Given the description of an element on the screen output the (x, y) to click on. 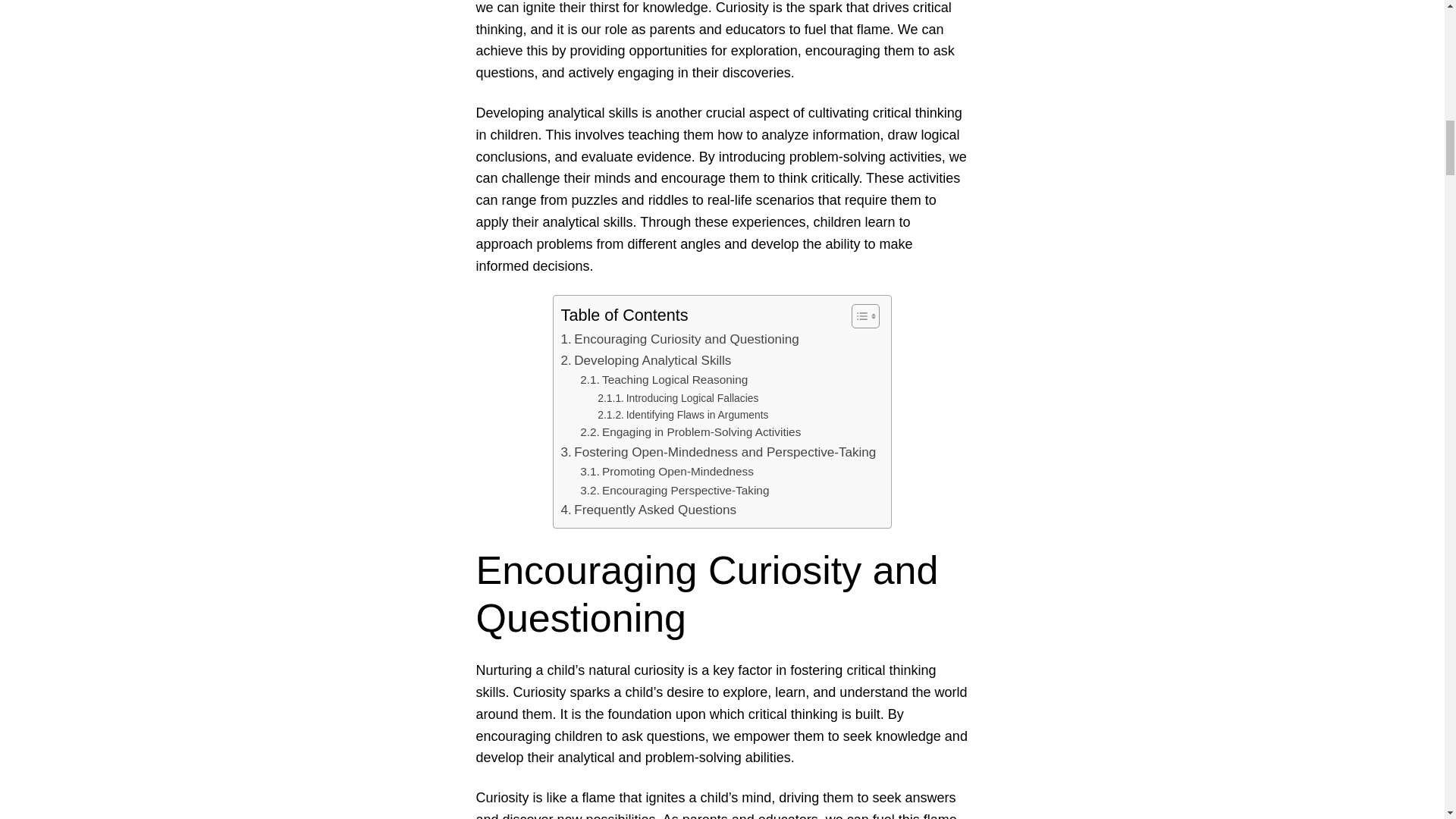
Developing Analytical Skills (646, 360)
Frequently Asked Questions (648, 509)
Engaging in Problem-Solving Activities (689, 432)
Engaging in Problem-Solving Activities (689, 432)
Teaching Logical Reasoning (663, 380)
Teaching Logical Reasoning (663, 380)
Promoting Open-Mindedness (666, 471)
Identifying Flaws in Arguments (682, 414)
Encouraging Perspective-Taking (673, 489)
Frequently Asked Questions (648, 509)
Identifying Flaws in Arguments (682, 414)
Introducing Logical Fallacies (677, 397)
Fostering Open-Mindedness and Perspective-Taking (718, 452)
Encouraging Perspective-Taking (673, 489)
Encouraging Curiosity and Questioning (679, 339)
